Given the description of an element on the screen output the (x, y) to click on. 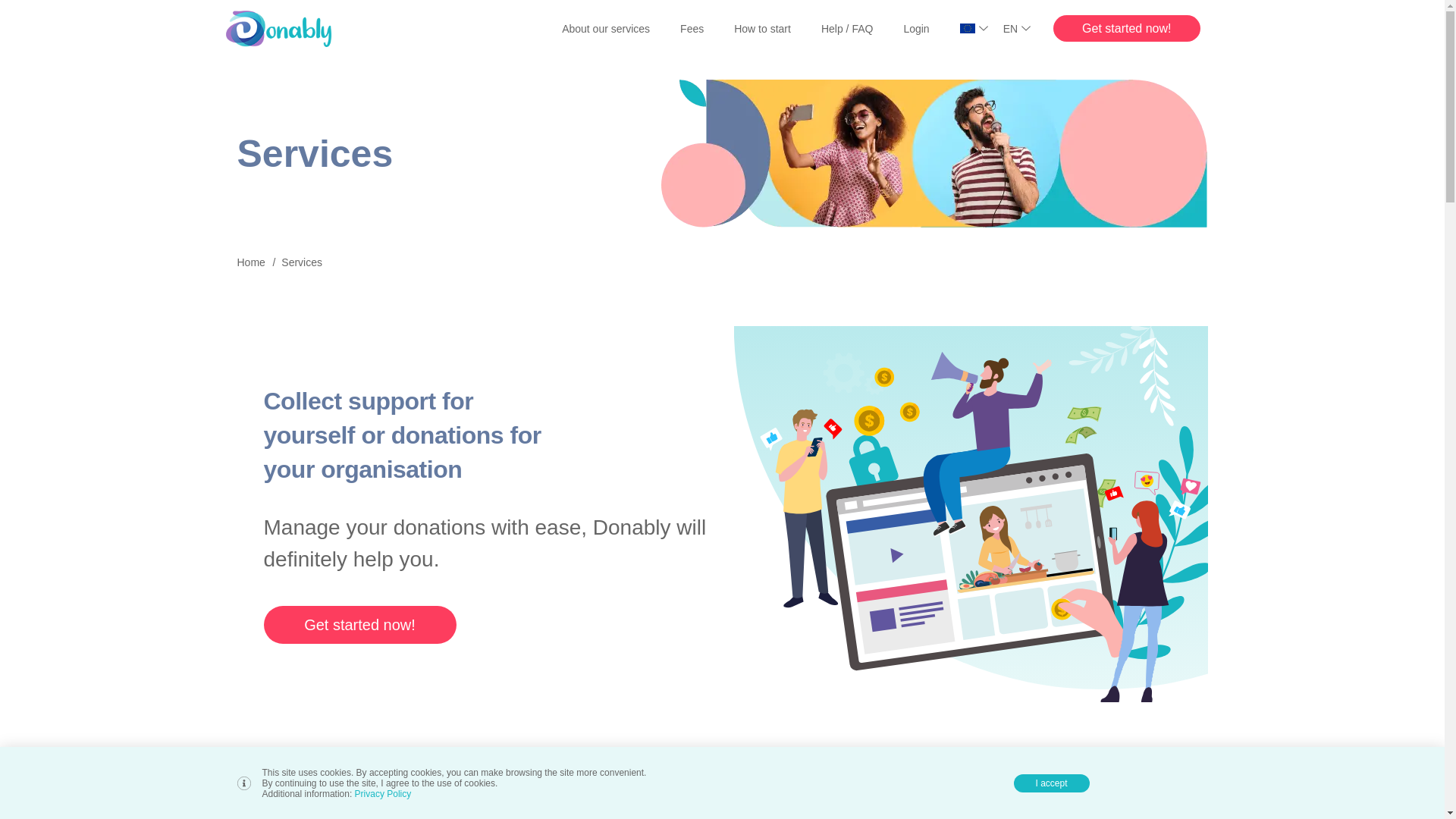
Get started now! (1125, 28)
Home (249, 262)
Get started now! (1125, 28)
Get started now! (360, 624)
I accept (1051, 782)
Country (973, 27)
Fees (691, 27)
About our services (606, 27)
Login (915, 27)
Country (983, 28)
About our services (606, 27)
Services (301, 262)
How to start (761, 27)
Privacy Policy (383, 793)
